Given the description of an element on the screen output the (x, y) to click on. 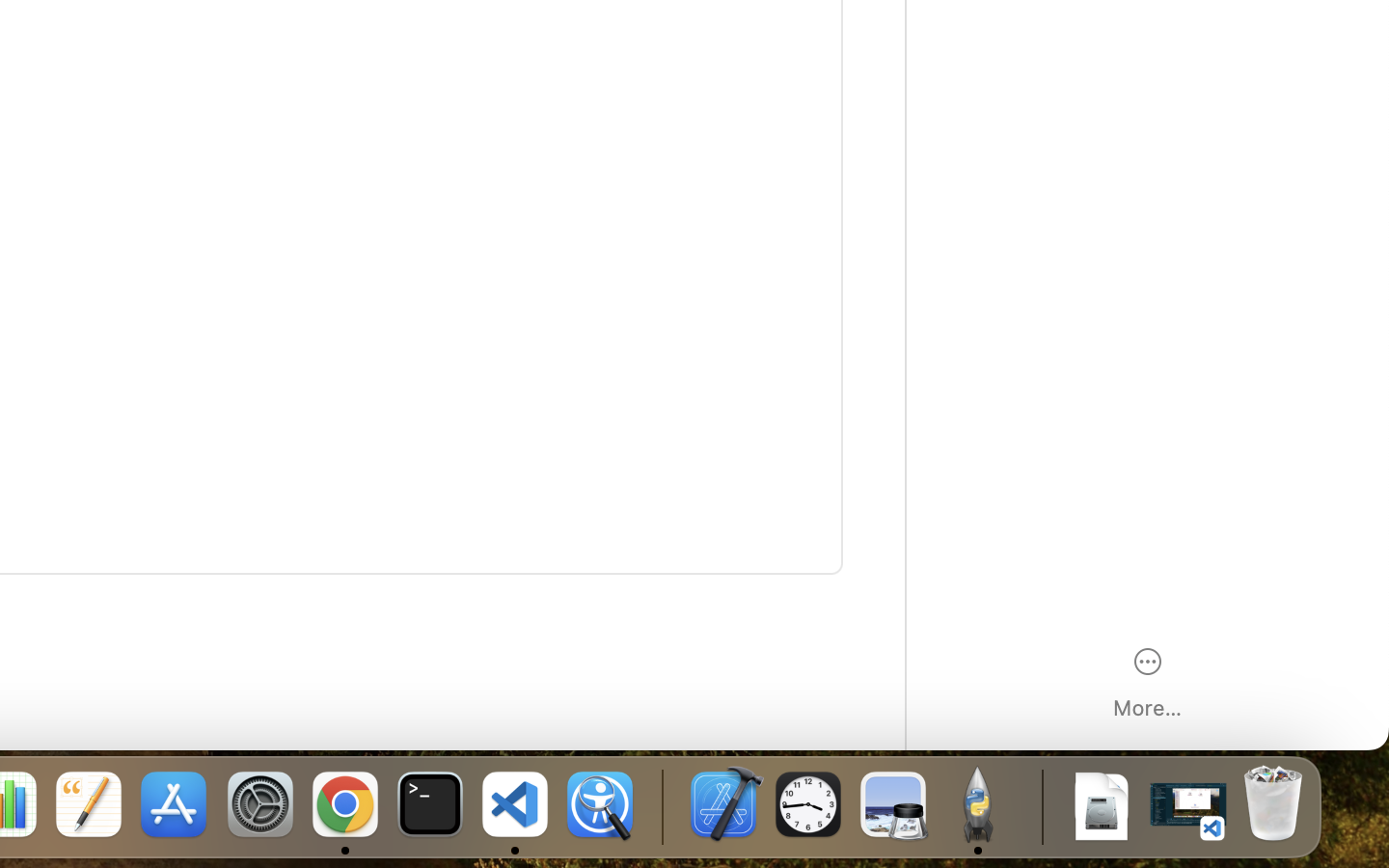
0.4285714328289032 Element type: AXDockItem (660, 805)
